Given the description of an element on the screen output the (x, y) to click on. 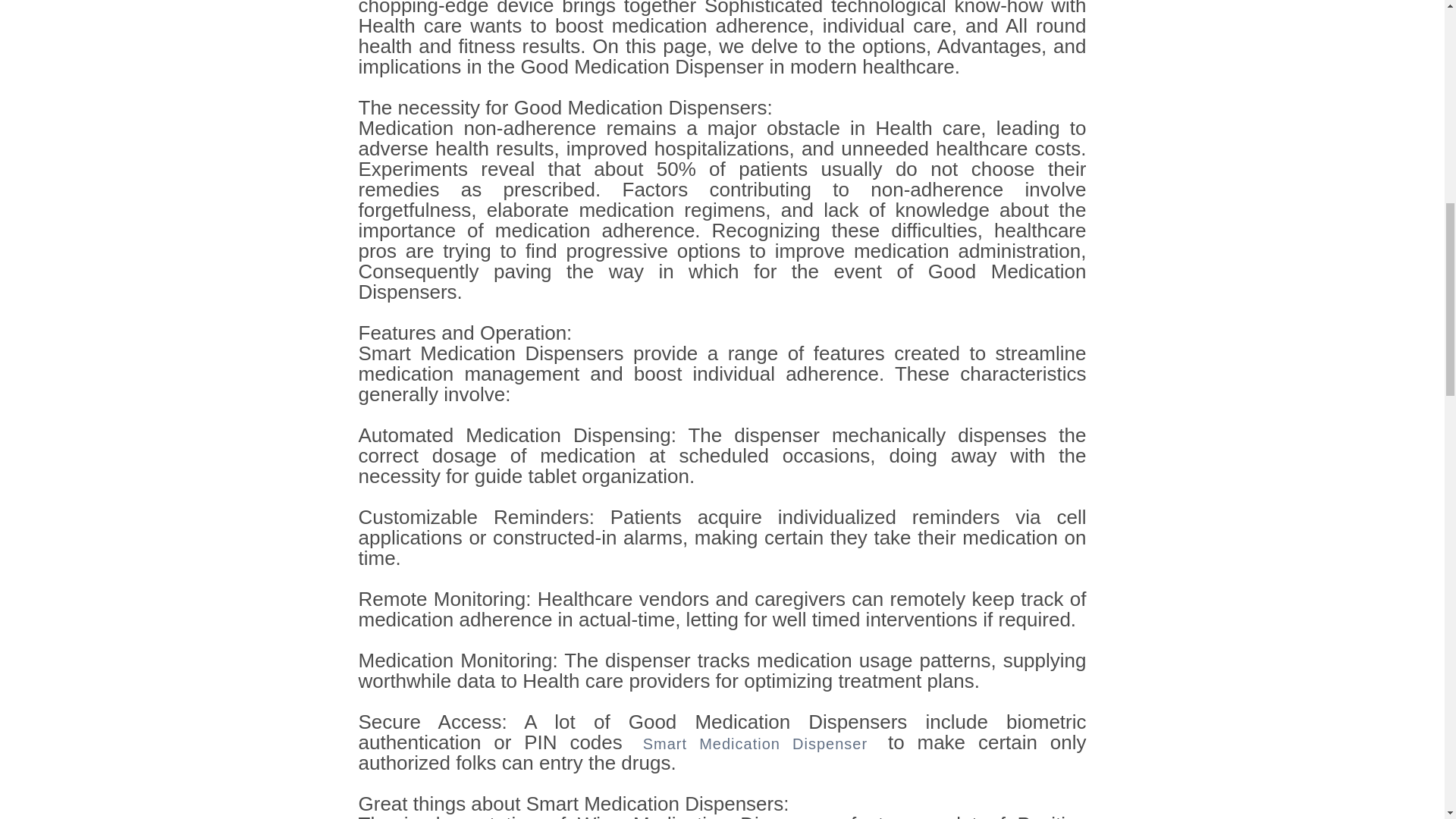
Smart Medication Dispenser (754, 743)
